Given the description of an element on the screen output the (x, y) to click on. 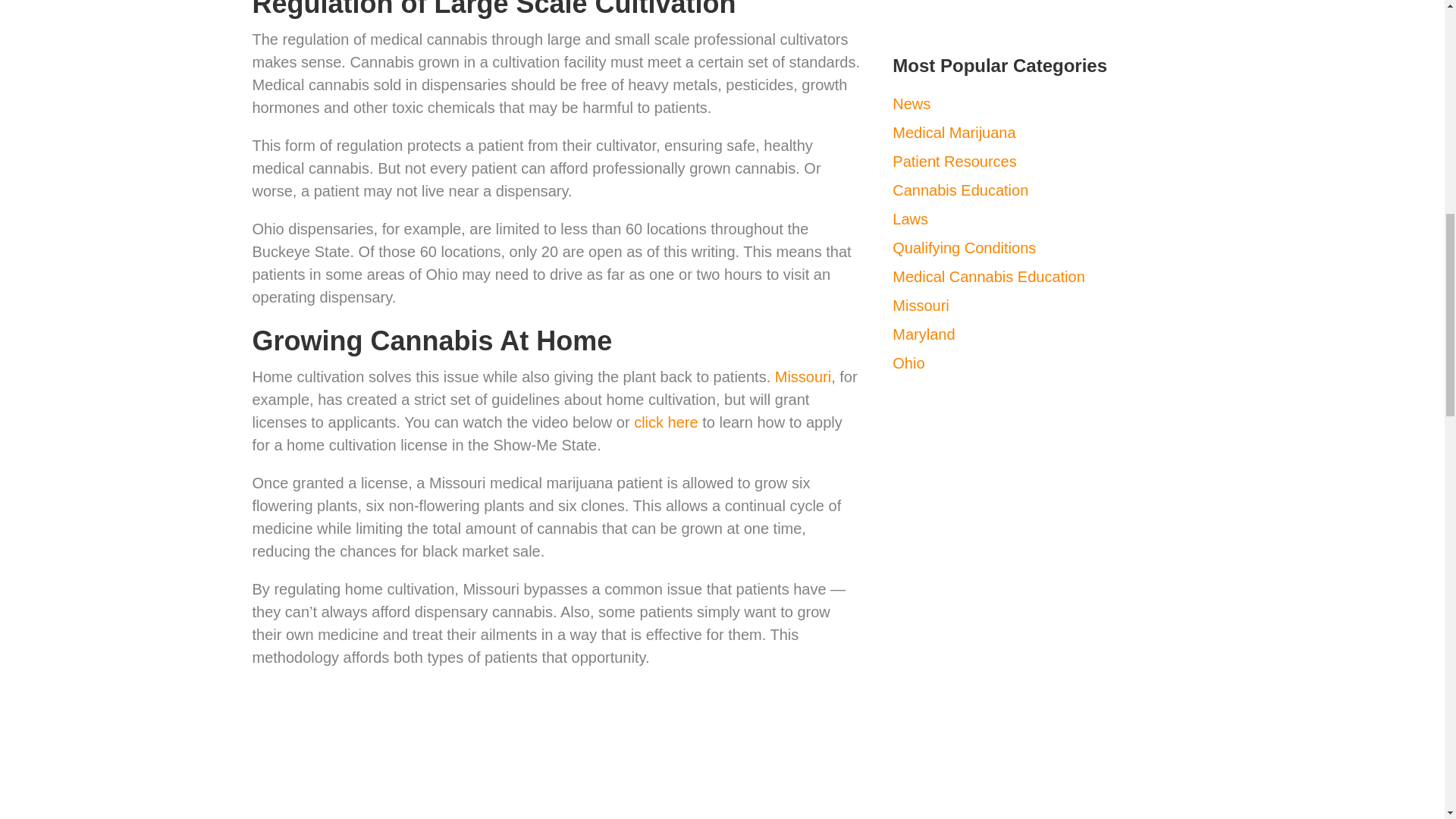
Missouri Rules For Growing Medical Marijuana At Home (440, 751)
Missouri (802, 376)
